Given the description of an element on the screen output the (x, y) to click on. 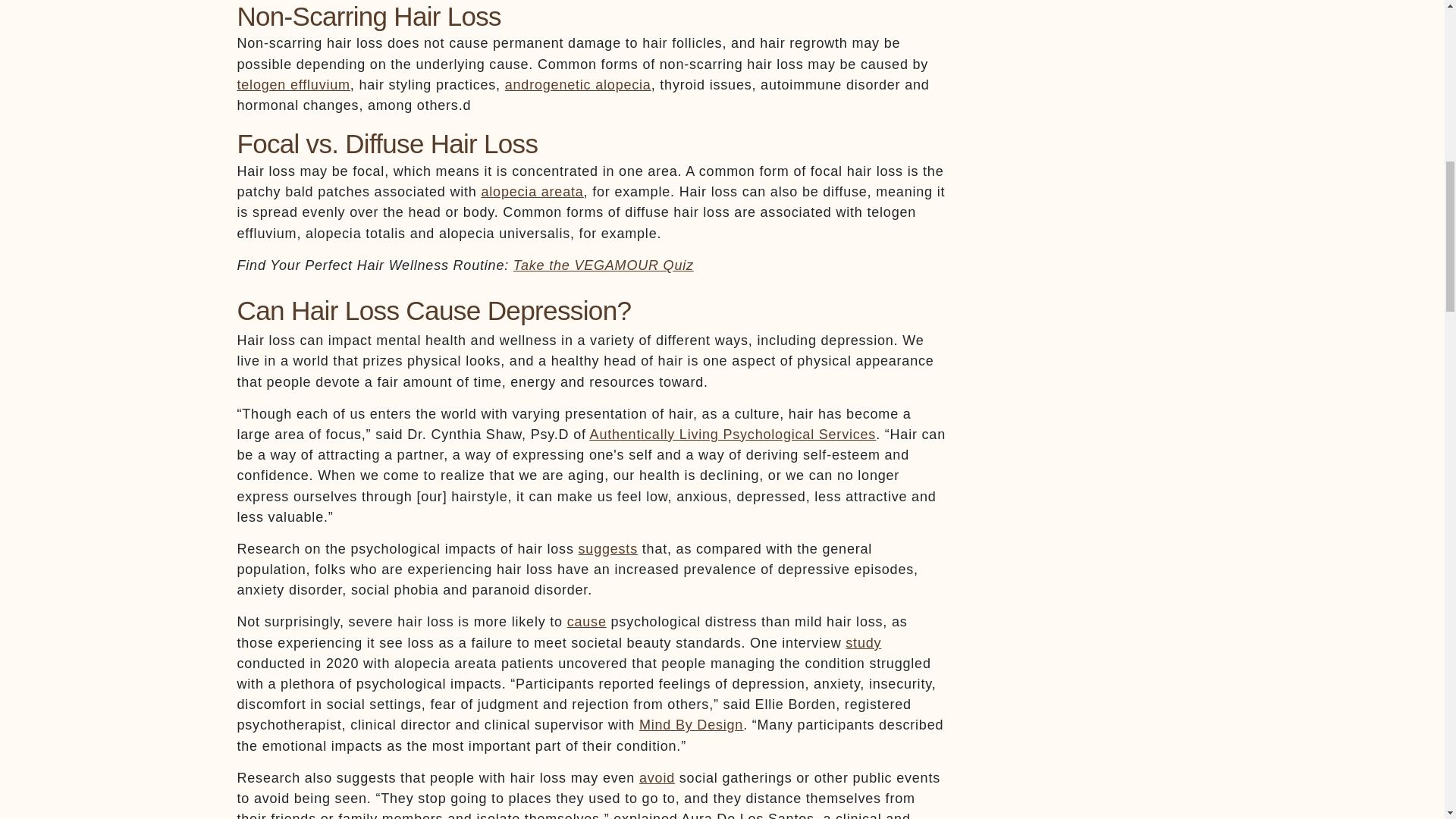
telogen effluvium (292, 84)
alopecia (577, 84)
alopecia (531, 191)
vegamour hair quiz (603, 264)
